Given the description of an element on the screen output the (x, y) to click on. 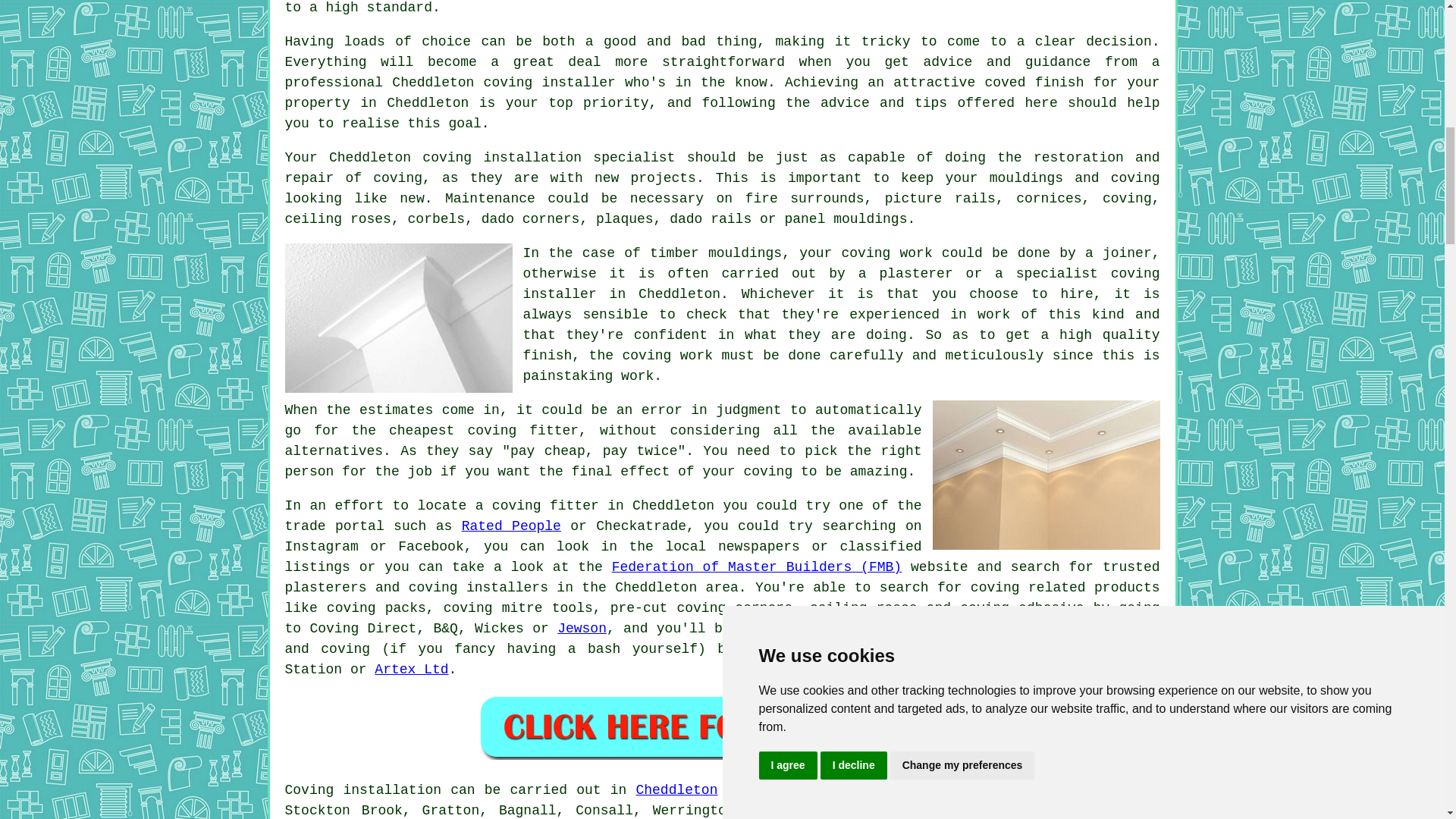
Coving Fitters Cheddleton ST13 (398, 318)
Coving installation (363, 789)
